Given the description of an element on the screen output the (x, y) to click on. 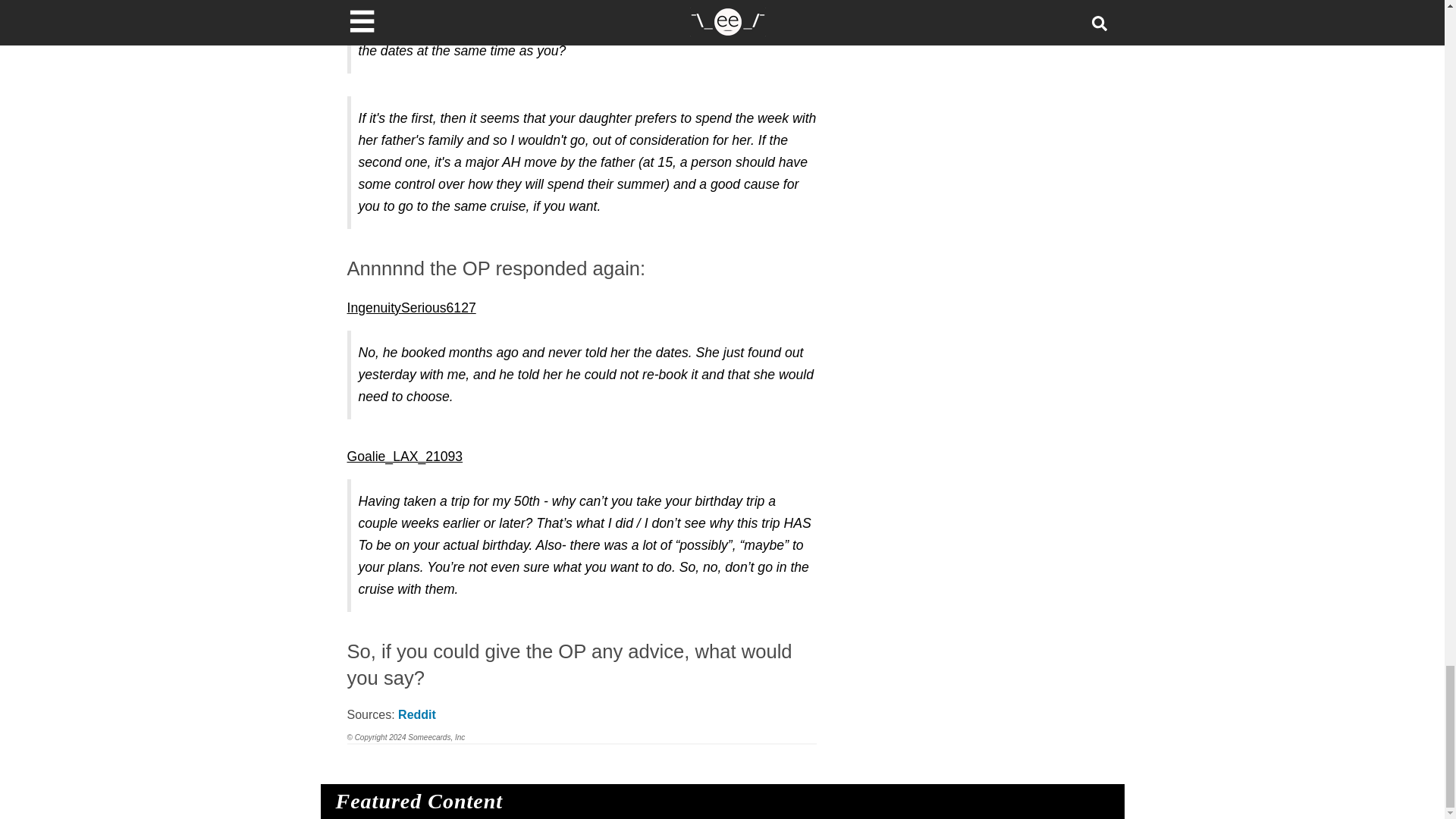
Reddit (416, 714)
